Given the description of an element on the screen output the (x, y) to click on. 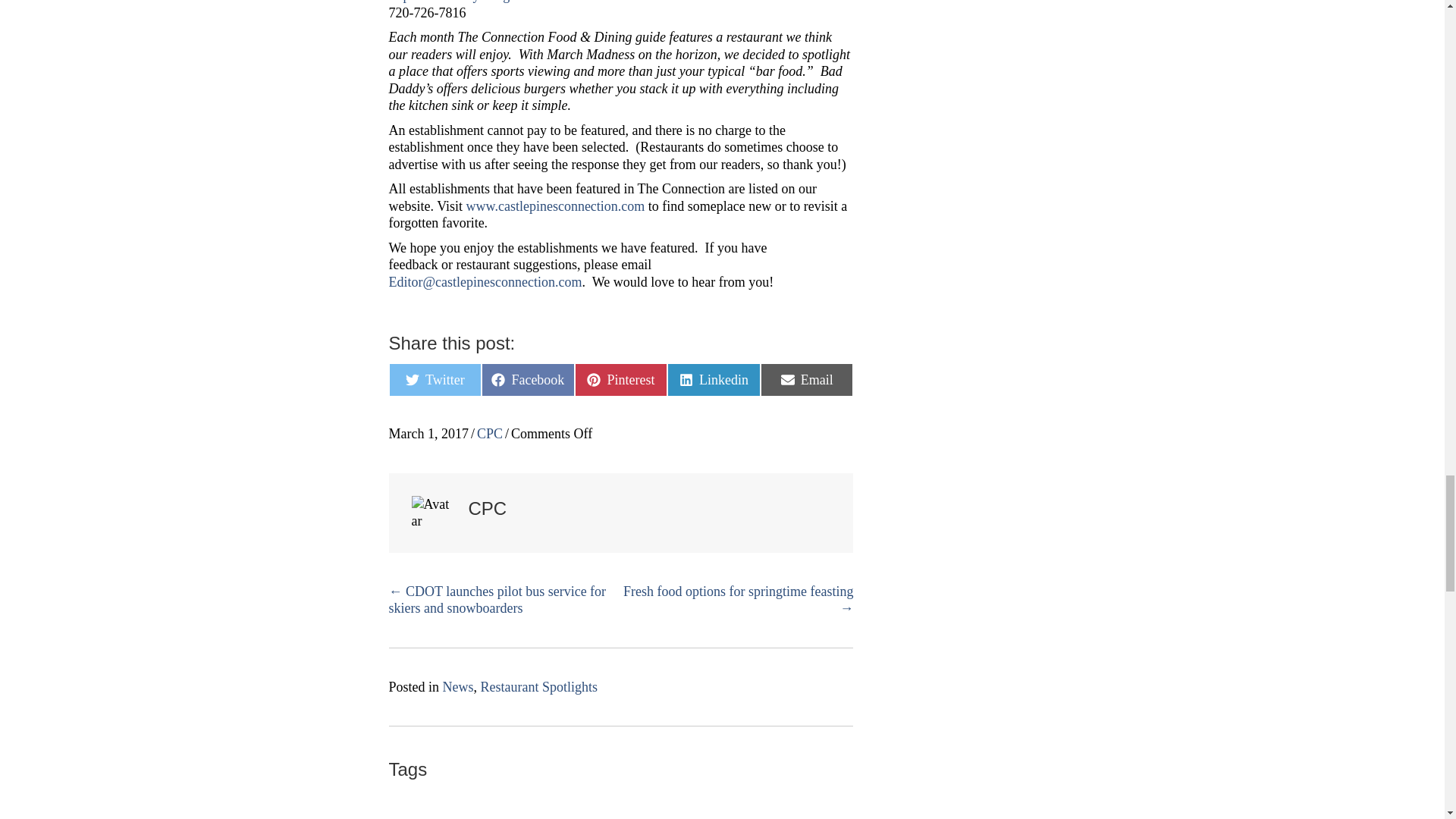
News (458, 686)
CPC (489, 433)
Email (806, 379)
Linkedin (713, 379)
Restaurant Spotlights (539, 686)
Facebook (528, 379)
www.castlepinesconnection.com (555, 206)
Twitter (434, 379)
Pinterest (621, 379)
